Given the description of an element on the screen output the (x, y) to click on. 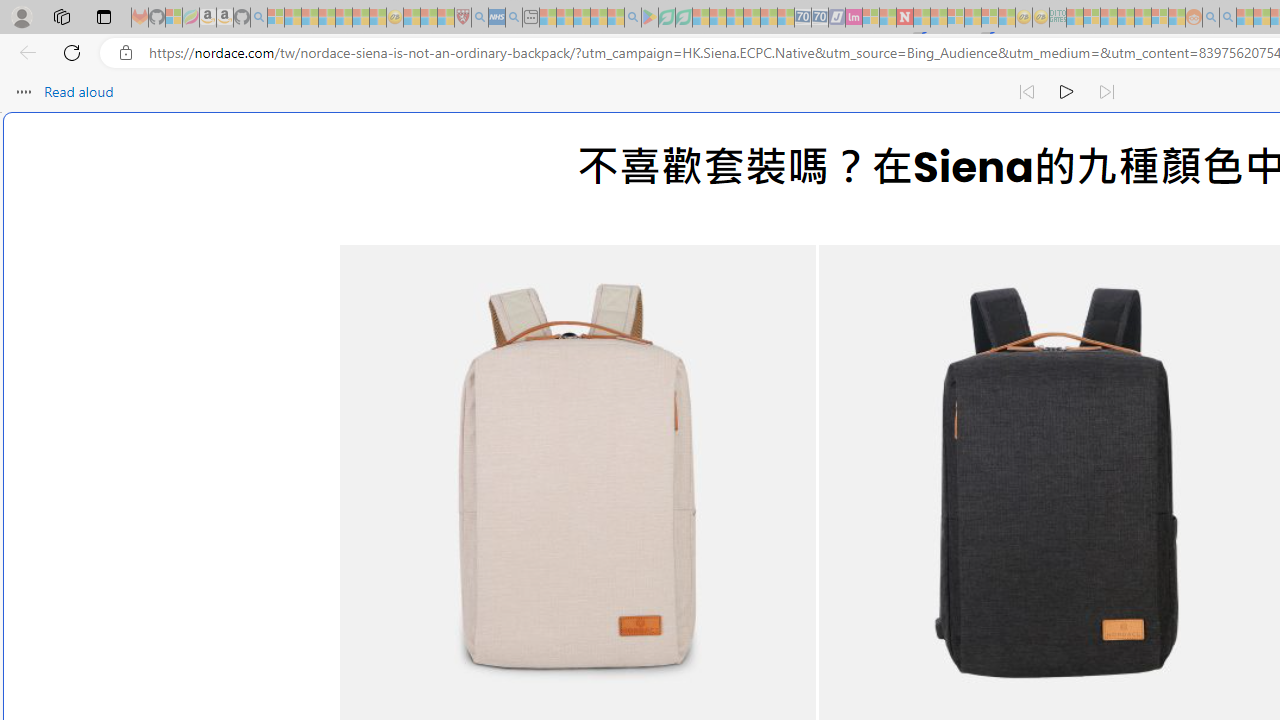
Continue to read aloud (Ctrl+Shift+U) (1065, 92)
